Given the description of an element on the screen output the (x, y) to click on. 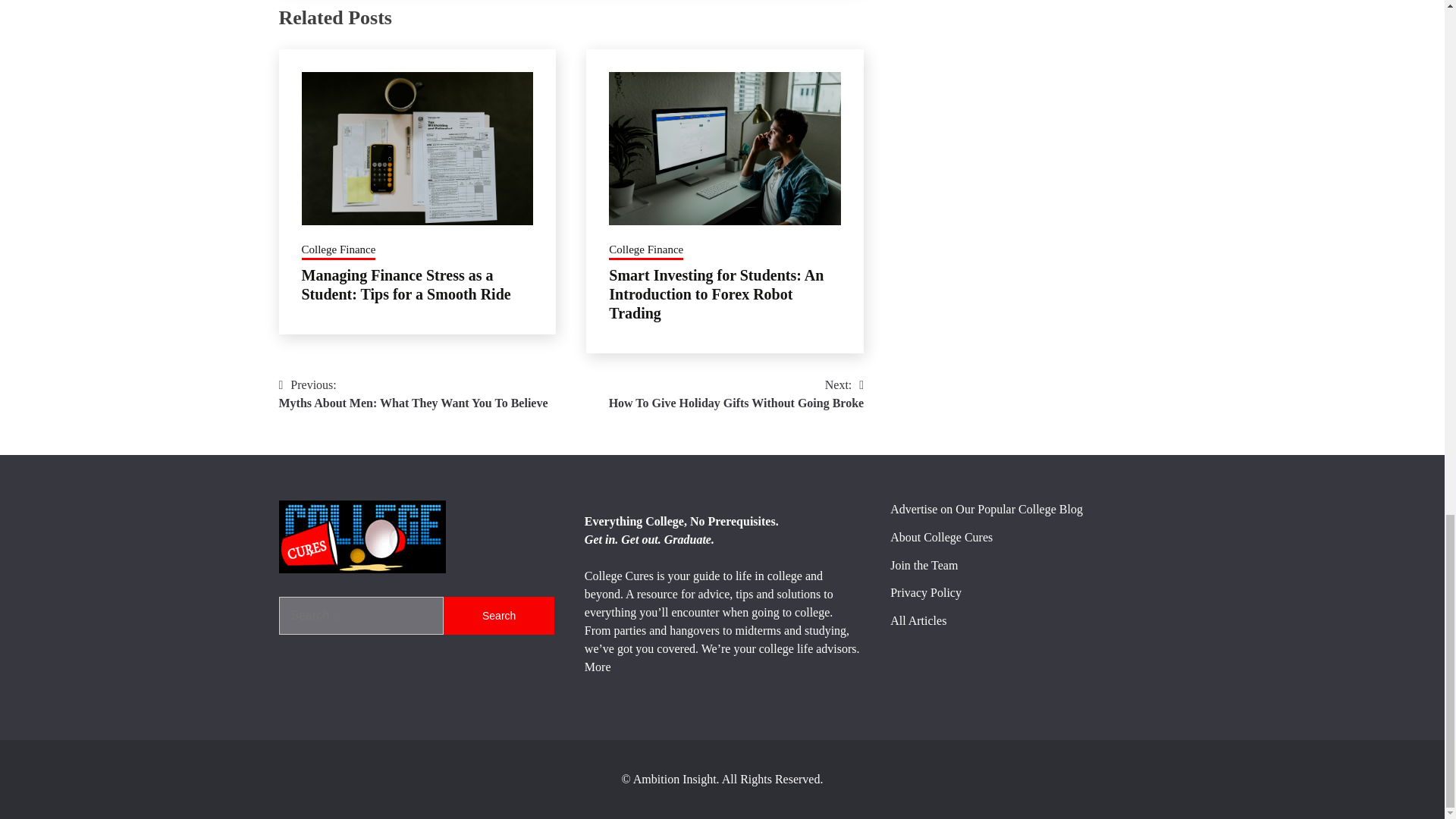
Managing Finance Stress as a Student: Tips for a Smooth Ride (406, 284)
College Finance (736, 393)
Search (645, 250)
College Finance (413, 393)
Search (498, 615)
